Given the description of an element on the screen output the (x, y) to click on. 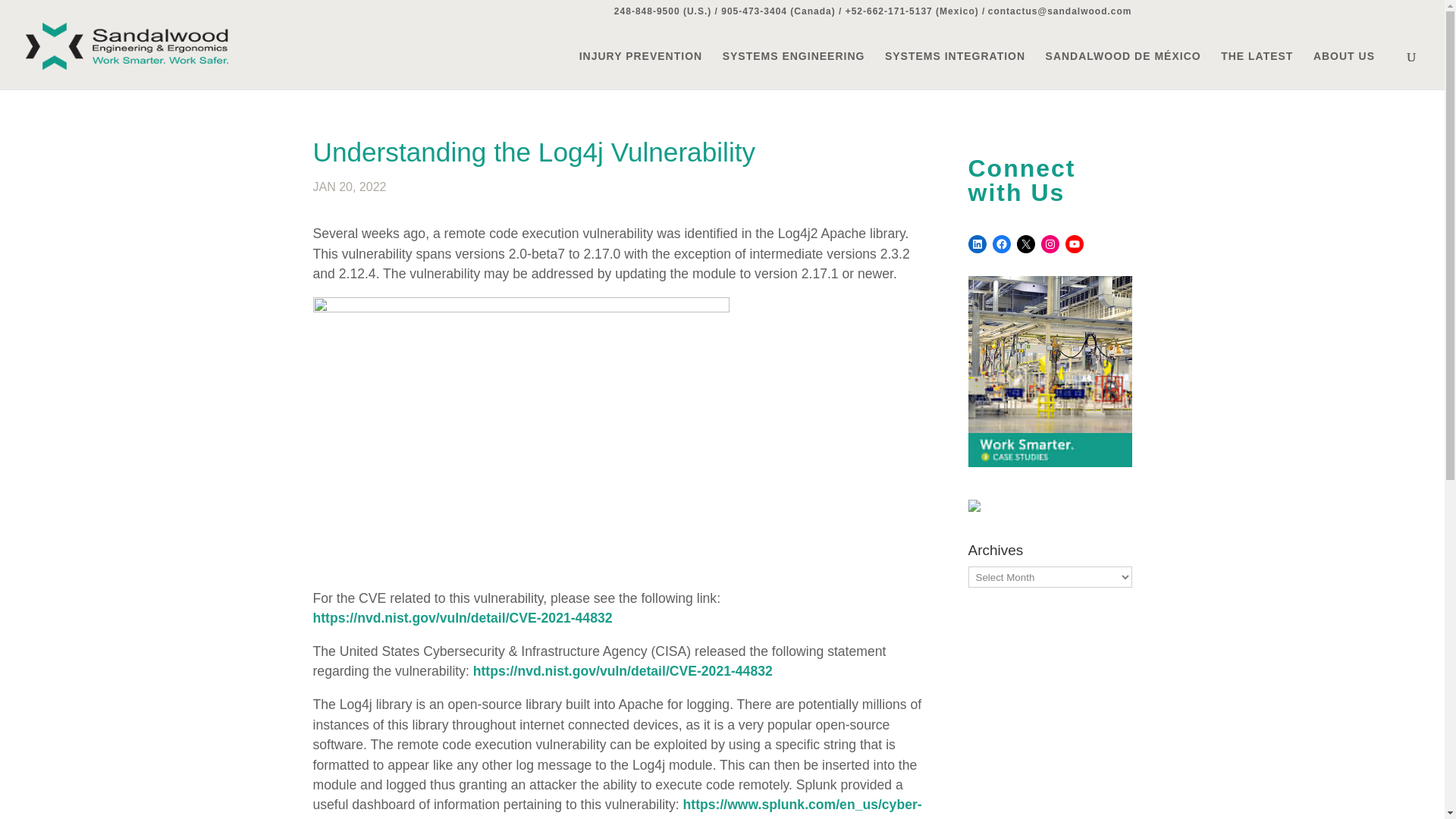
ABOUT US (1351, 69)
LinkedIn (976, 244)
THE LATEST (1256, 69)
Instagram (1049, 244)
Facebook (1000, 244)
YouTube (1073, 244)
X (1024, 244)
SYSTEMS ENGINEERING (793, 69)
INJURY PREVENTION (640, 69)
SYSTEMS INTEGRATION (955, 69)
